Given the description of an element on the screen output the (x, y) to click on. 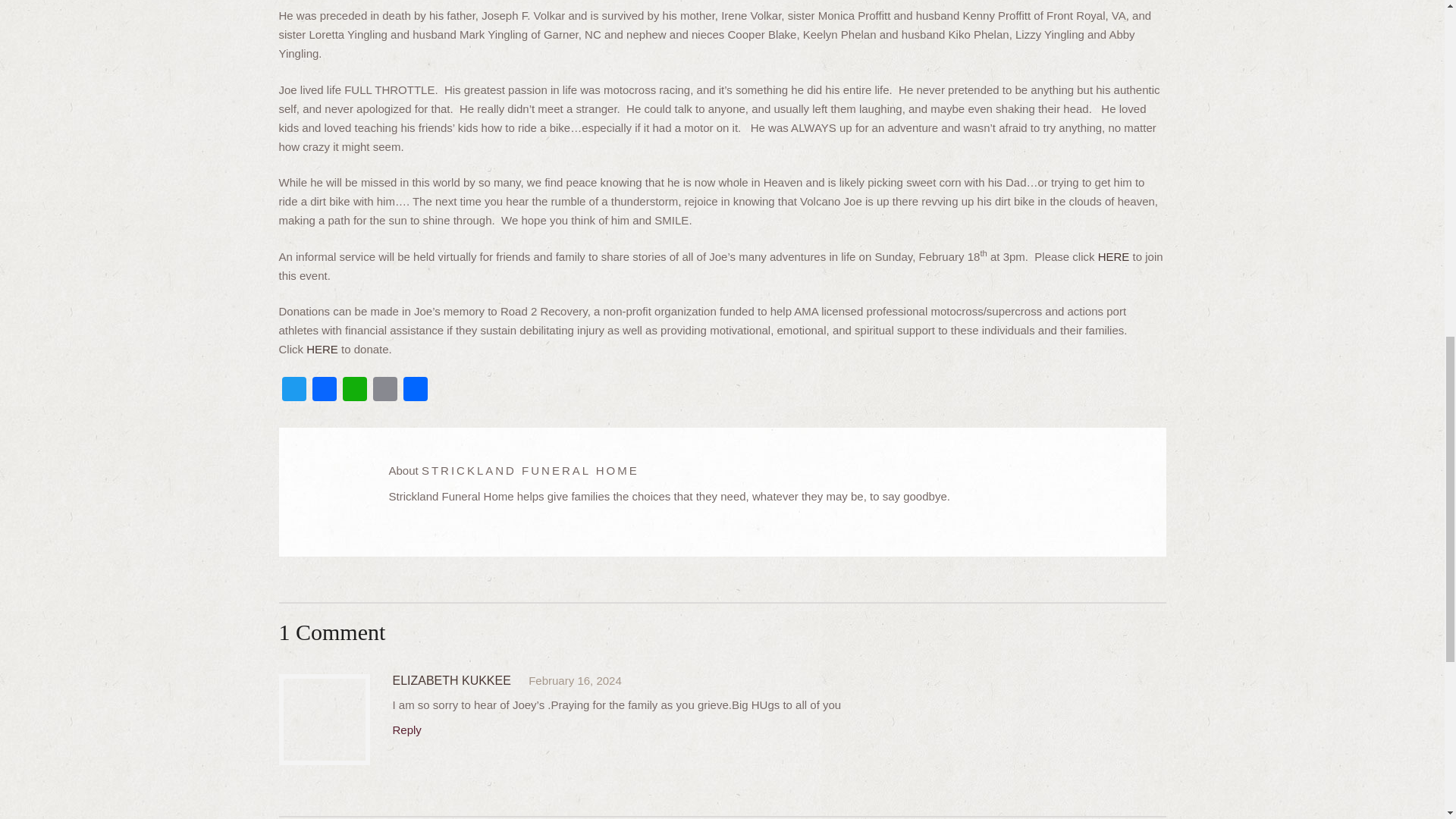
Facebook (323, 390)
HERE (321, 349)
WhatsApp (354, 390)
Email (384, 390)
HERE (1113, 256)
Twitter (293, 390)
